Given the description of an element on the screen output the (x, y) to click on. 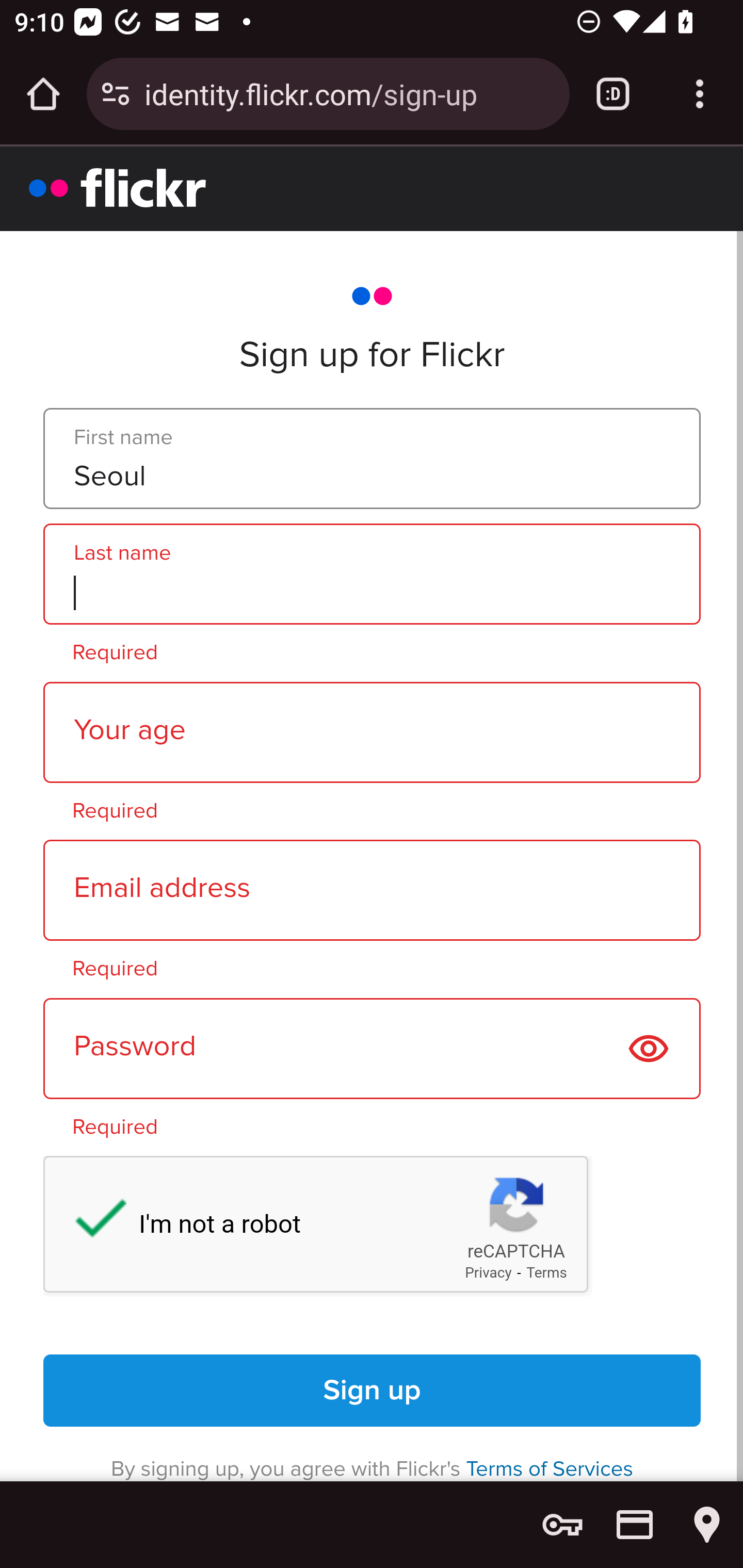
Open the home page (43, 93)
Connection is secure (115, 93)
Switch or close tabs (612, 93)
Customize and control Google Chrome (699, 93)
identity.flickr.com/sign-up (349, 92)
Flickr Logo (117, 186)
Seoul (371, 459)
I'm not a robot (91, 1222)
Privacy (488, 1272)
Terms (546, 1272)
Sign up (372, 1390)
Terms of Services (549, 1468)
Show saved passwords and password options (562, 1524)
Show saved payment methods (634, 1524)
Show saved addresses (706, 1524)
